Given the description of an element on the screen output the (x, y) to click on. 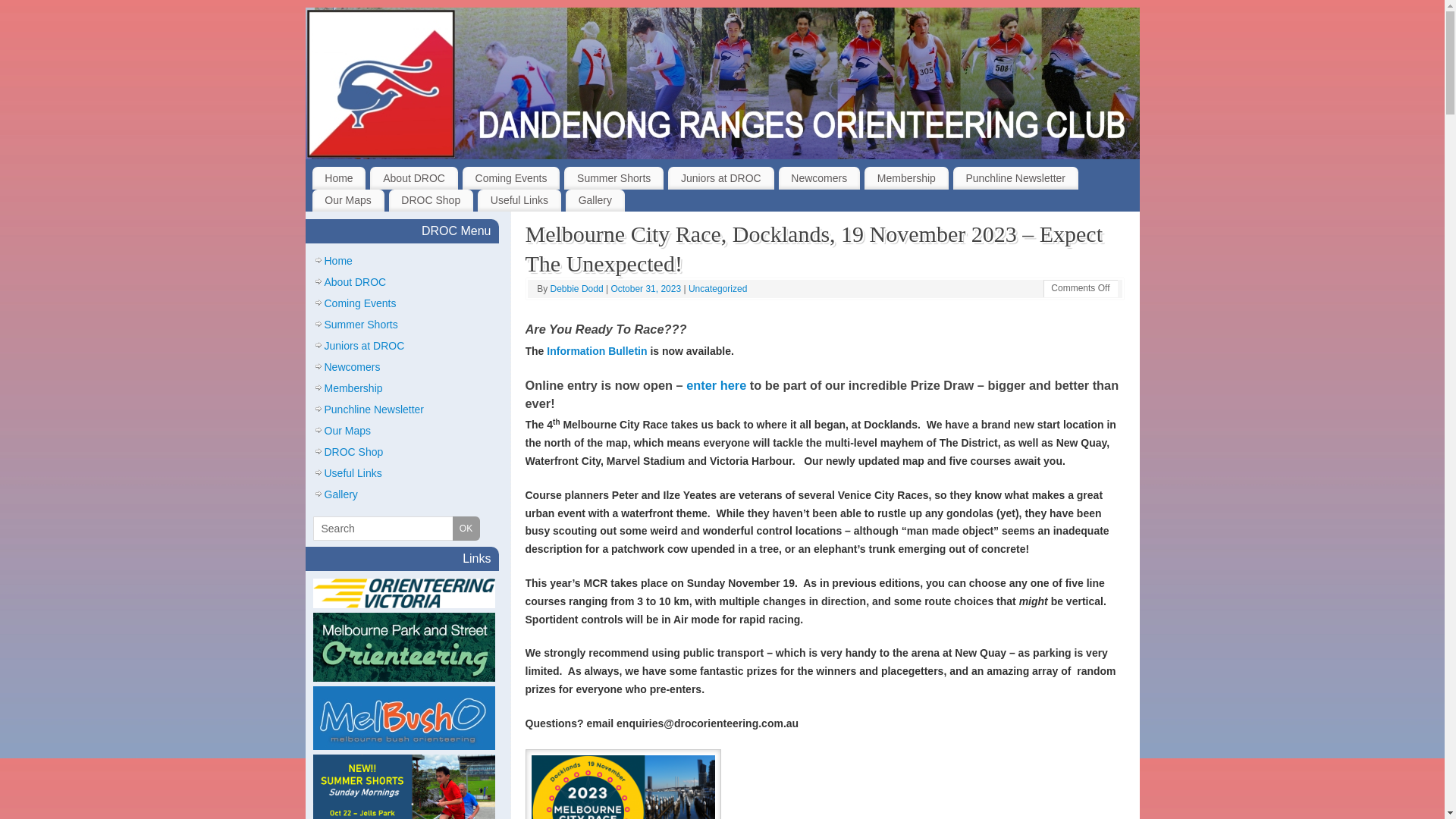
Debbie Dodd Element type: text (576, 288)
About DROC Element type: text (355, 282)
Membership Element type: text (353, 388)
Punchline Newsletter Element type: text (374, 409)
Membership Element type: text (906, 178)
October 31, 2023 Element type: text (646, 288)
Coming Events Element type: text (360, 303)
Useful Links Element type: text (519, 200)
Summer Shorts Element type: text (361, 324)
Juniors at DROC Element type: text (720, 178)
Our Maps Element type: text (348, 200)
About DROC Element type: text (413, 178)
enter here Element type: text (716, 385)
Coming Events Element type: text (511, 178)
Newcomers Element type: text (352, 366)
Useful Links Element type: text (353, 473)
Home Element type: text (339, 178)
Summer Shorts Element type: text (613, 178)
Gallery Element type: text (340, 494)
Our Maps Element type: text (347, 430)
Uncategorized Element type: text (717, 288)
Punchline Newsletter Element type: text (1015, 178)
Newcomers Element type: text (819, 178)
Home Element type: text (338, 260)
OK Element type: text (465, 528)
Juniors at DROC Element type: text (364, 345)
DROC Shop Element type: text (431, 200)
Gallery Element type: text (594, 200)
Information Bulletin Element type: text (596, 351)
DROC Shop Element type: text (353, 451)
